Given the description of an element on the screen output the (x, y) to click on. 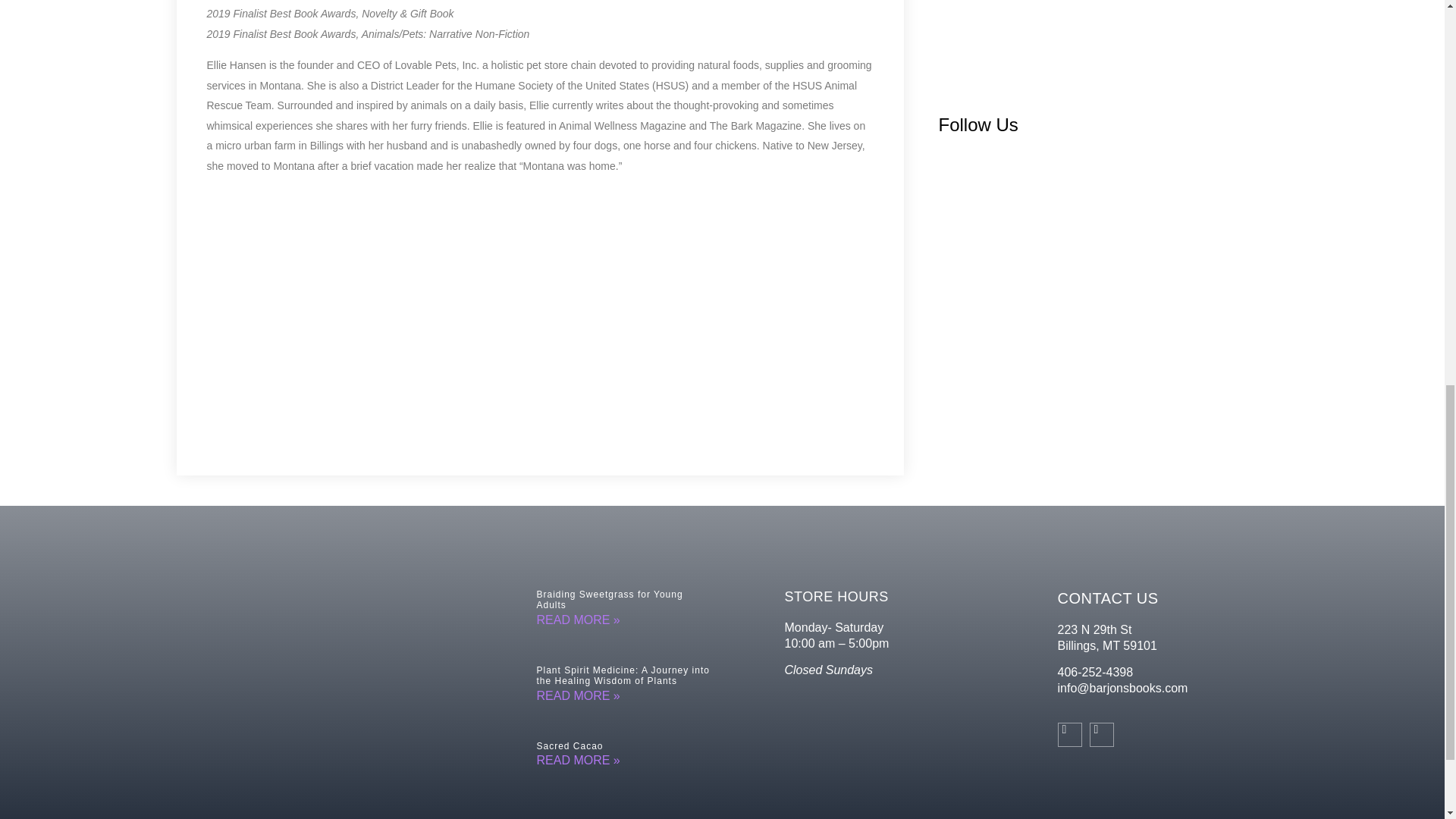
Braiding Sweetgrass for Young Adults (609, 599)
Sacred Cacao (570, 746)
